Given the description of an element on the screen output the (x, y) to click on. 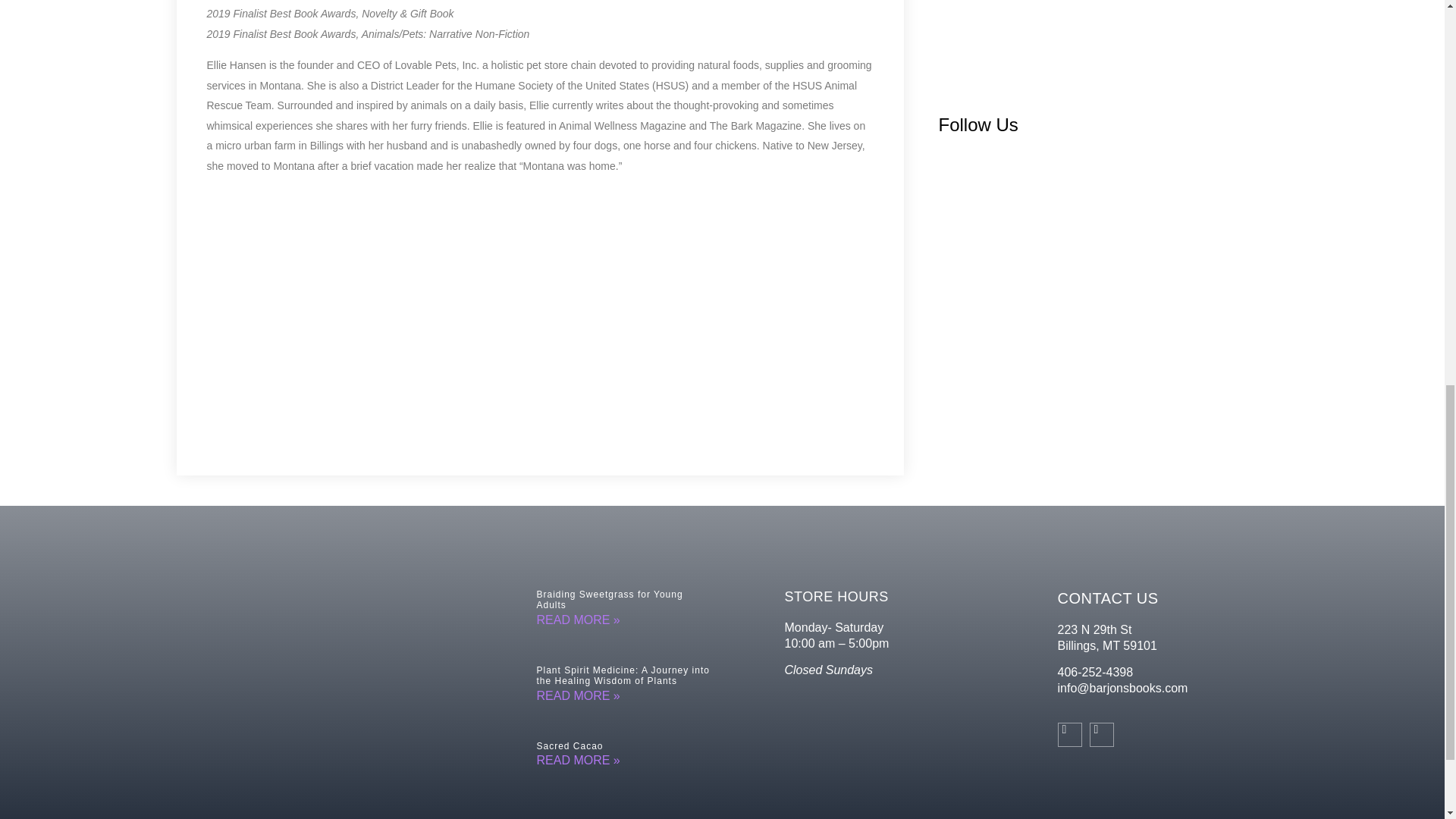
Braiding Sweetgrass for Young Adults (609, 599)
Sacred Cacao (570, 746)
